Given the description of an element on the screen output the (x, y) to click on. 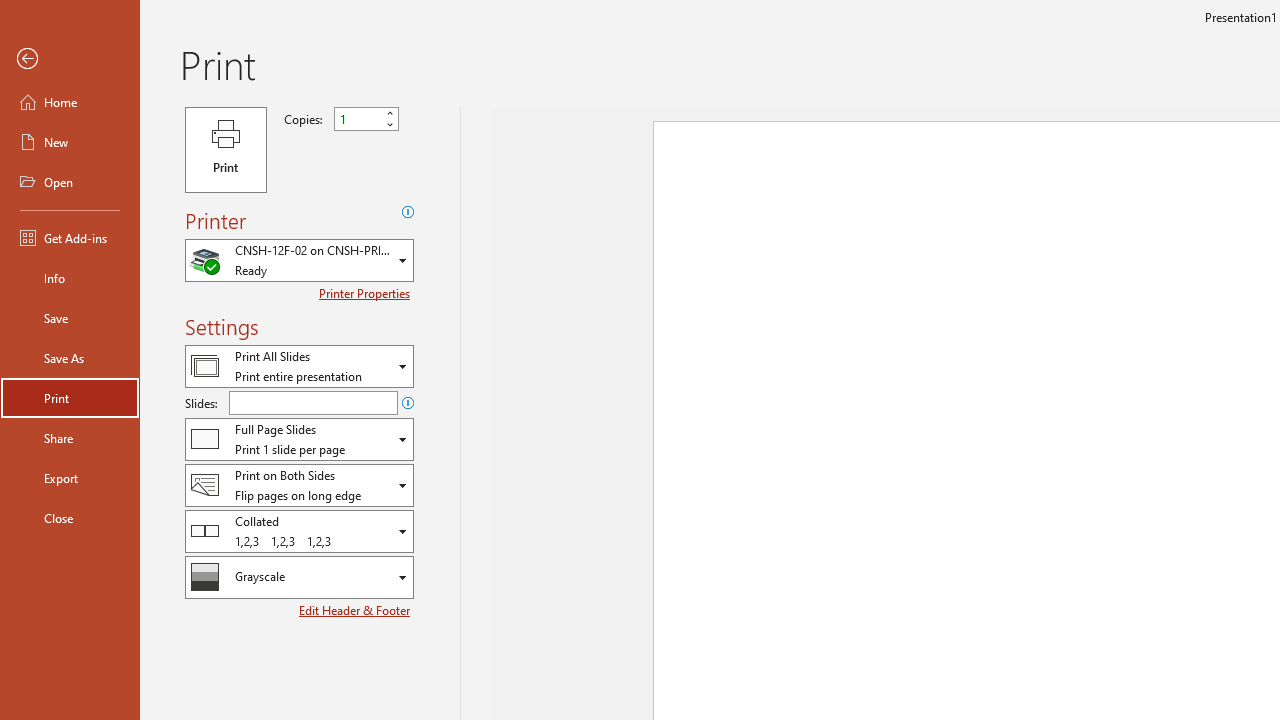
Print What (299, 366)
Back (69, 59)
New (69, 141)
Printer Properties (365, 293)
Color/Grayscale (299, 577)
Save As (69, 357)
Print (226, 149)
Info (69, 277)
